Given the description of an element on the screen output the (x, y) to click on. 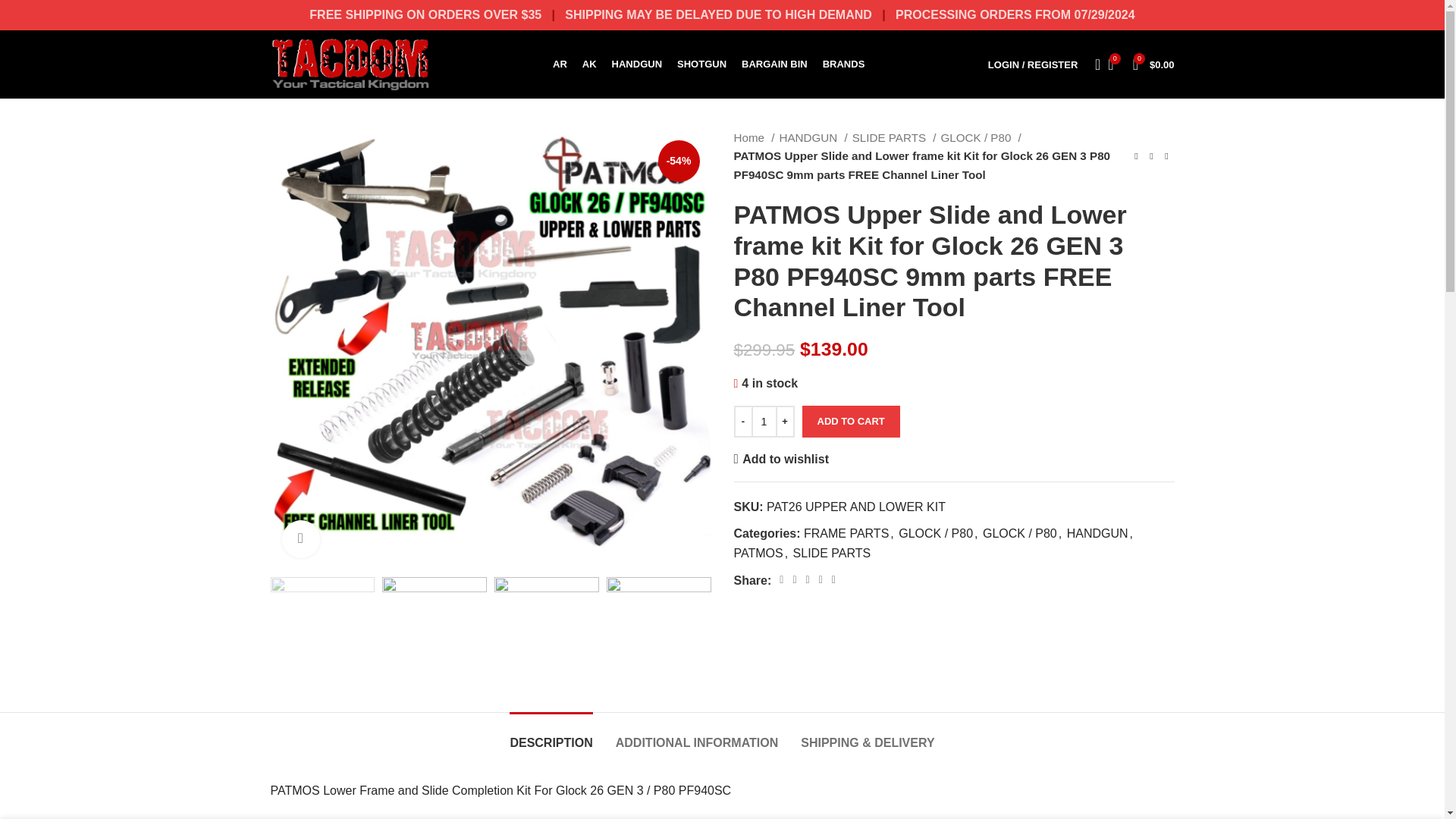
FRAME PARTS (845, 533)
HANDGUN (1097, 533)
My account (1031, 64)
SLIDE PARTS (893, 137)
Shopping cart (1153, 64)
BARGAIN BIN (774, 64)
Add to wishlist (780, 459)
HANDGUN (812, 137)
BRANDS (843, 64)
PATMOS (758, 553)
SHOTGUN (701, 64)
Home (753, 137)
ADD TO CART (850, 421)
HANDGUN (636, 64)
